Given the description of an element on the screen output the (x, y) to click on. 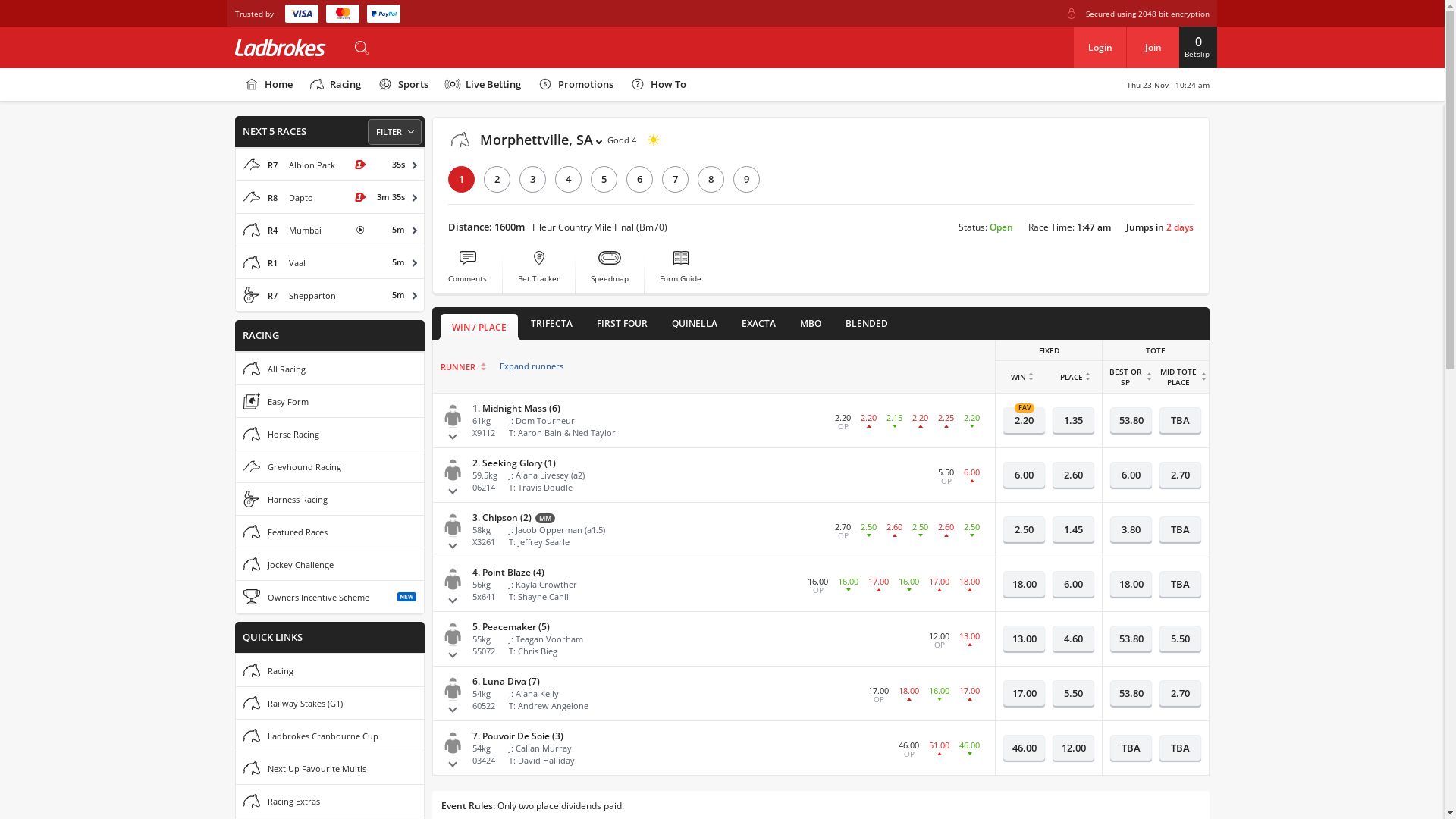
TBA Element type: text (1180, 420)
Morphettville, SA Element type: text (524, 139)
1.45 Element type: text (1073, 529)
2.50 Element type: text (1023, 529)
53.80 Element type: text (1130, 420)
7
Albion Park
37s Element type: text (329, 164)
All Racing Element type: text (329, 368)
How To Element type: text (657, 84)
Greyhound Racing Element type: text (329, 466)
TBA Element type: text (1180, 529)
TBA Element type: text (1180, 583)
2 Element type: text (496, 179)
6.00 Element type: text (1073, 583)
2.70 Element type: text (1180, 474)
Owners Incentive Scheme Element type: text (329, 596)
Live Betting Element type: text (482, 84)
7 Element type: text (675, 179)
Promotions Element type: text (574, 84)
TBA Element type: text (1130, 747)
18.00 Element type: text (1130, 583)
Next Up Favourite Multis Element type: text (329, 768)
Featured Races Element type: text (329, 531)
6.00 Element type: text (1023, 474)
6 Element type: text (639, 179)
6.00 Element type: text (1130, 474)
Harness Racing Element type: text (329, 498)
WIN / PLACE Element type: text (478, 326)
7
Shepparton
5m Element type: text (329, 294)
Horse Racing Element type: text (329, 433)
Login Element type: text (1099, 47)
12.00 Element type: text (1073, 747)
4.60 Element type: text (1073, 638)
MBO Element type: text (810, 326)
QUINELLA Element type: text (694, 326)
4
Mumbai
5m Element type: text (329, 229)
Racing Element type: text (329, 670)
46.00 Element type: text (1023, 747)
Easy Form Element type: text (329, 401)
2.20 Element type: text (1023, 420)
1
Vaal
5m Element type: text (329, 262)
Ladbrokes Cranbourne Cup Element type: text (329, 735)
Jockey Challenge Element type: text (329, 564)
3 Element type: text (532, 179)
2.60 Element type: text (1073, 474)
18.00 Element type: text (1023, 583)
8
Dapto
3m 37s Element type: text (329, 197)
17.00 Element type: text (1023, 693)
Join Element type: text (1152, 47)
TBA Element type: text (1180, 747)
Railway Stakes (G1) Element type: text (329, 702)
Racing Extras Element type: text (329, 800)
5 Element type: text (603, 179)
5.50 Element type: text (1180, 638)
Home Element type: text (267, 84)
53.80 Element type: text (1130, 638)
2.70 Element type: text (1180, 693)
Racing Element type: text (334, 84)
TRIFECTA Element type: text (551, 326)
53.80 Element type: text (1130, 693)
4 Element type: text (568, 179)
Sports Element type: text (402, 84)
FIRST FOUR Element type: text (621, 326)
EXACTA Element type: text (758, 326)
9 Element type: text (746, 179)
8 Element type: text (710, 179)
1.35 Element type: text (1073, 420)
BLENDED Element type: text (866, 326)
3.80 Element type: text (1130, 529)
13.00 Element type: text (1023, 638)
1 Element type: text (461, 179)
5.50 Element type: text (1073, 693)
